Given the description of an element on the screen output the (x, y) to click on. 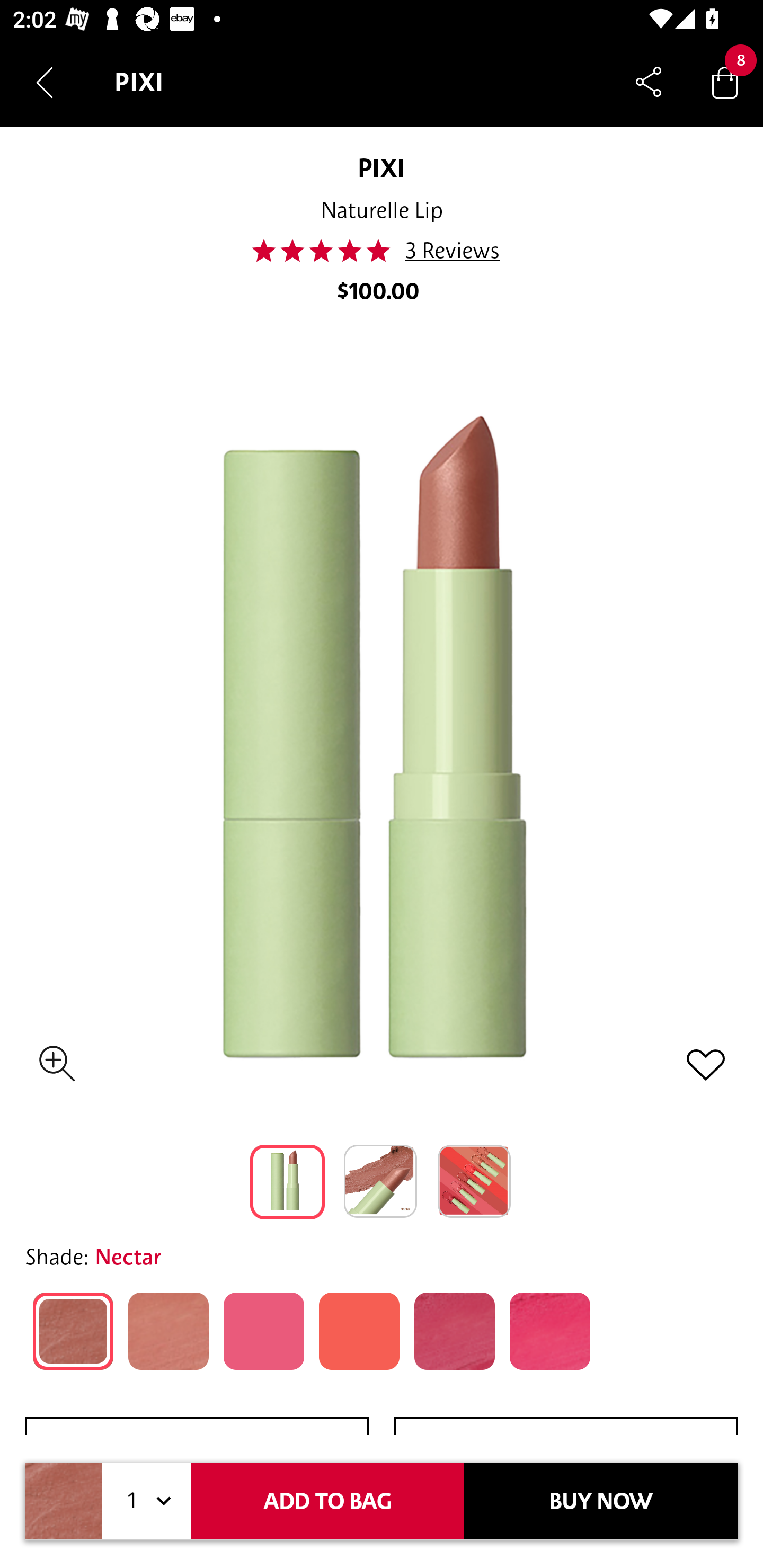
Navigate up (44, 82)
Share (648, 81)
Bag (724, 81)
PIXI (380, 167)
50.0 3 Reviews (380, 250)
1 (145, 1500)
ADD TO BAG (326, 1500)
BUY NOW (600, 1500)
